Given the description of an element on the screen output the (x, y) to click on. 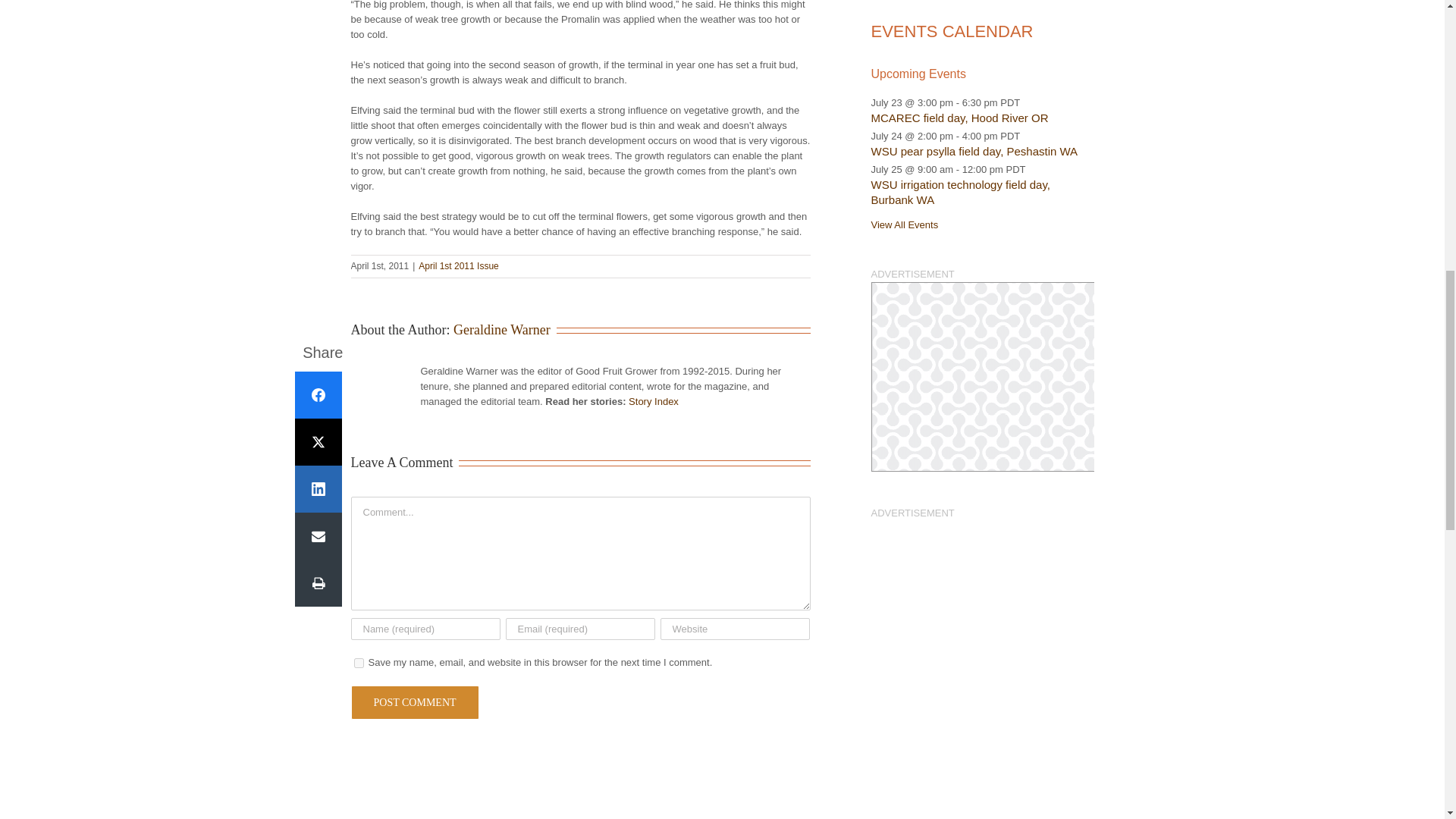
Post Comment (414, 702)
Posts by Geraldine Warner (501, 329)
3rd party ad content (981, 376)
yes (357, 663)
